Given the description of an element on the screen output the (x, y) to click on. 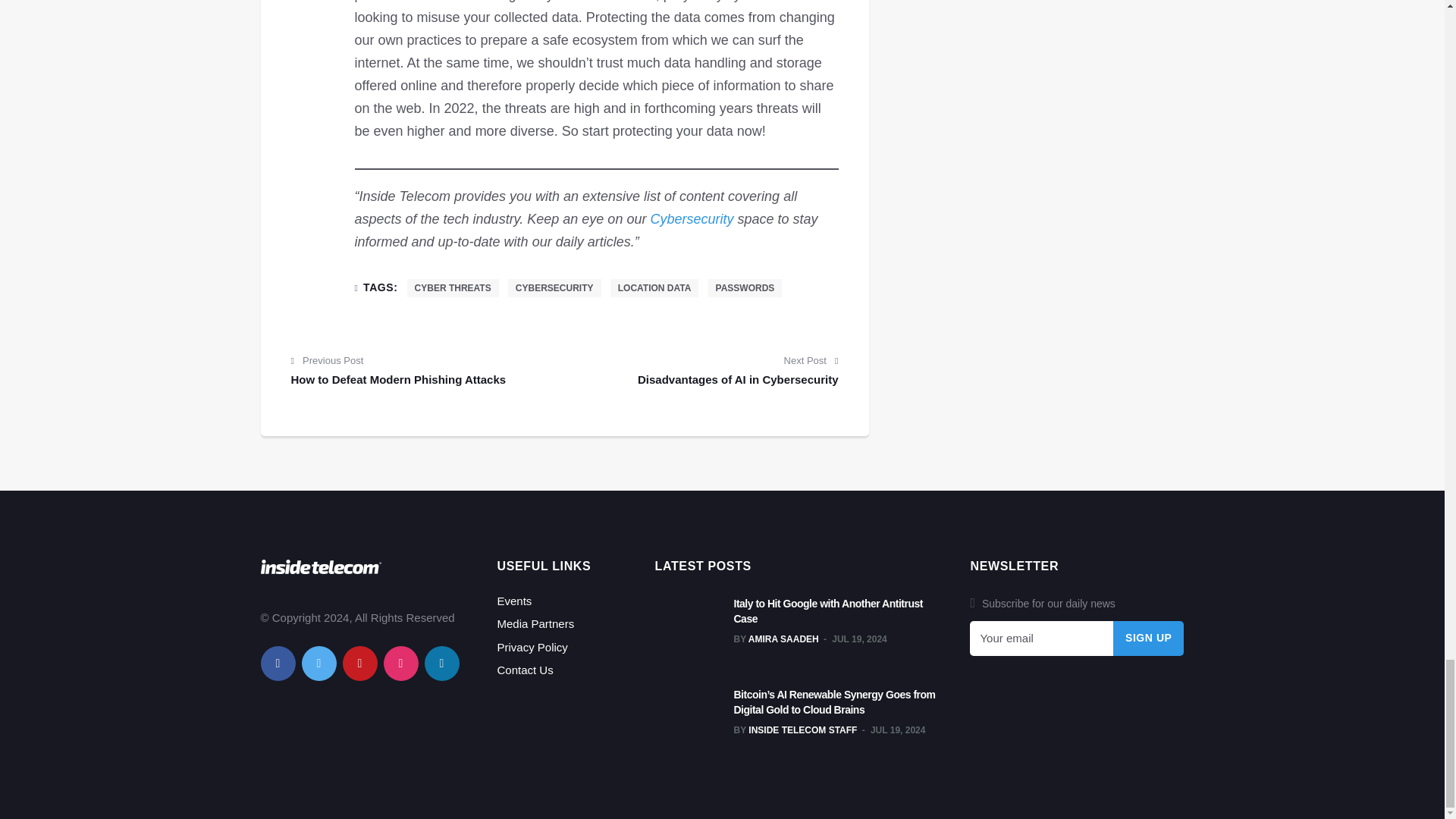
Sign Up (1149, 638)
